Given the description of an element on the screen output the (x, y) to click on. 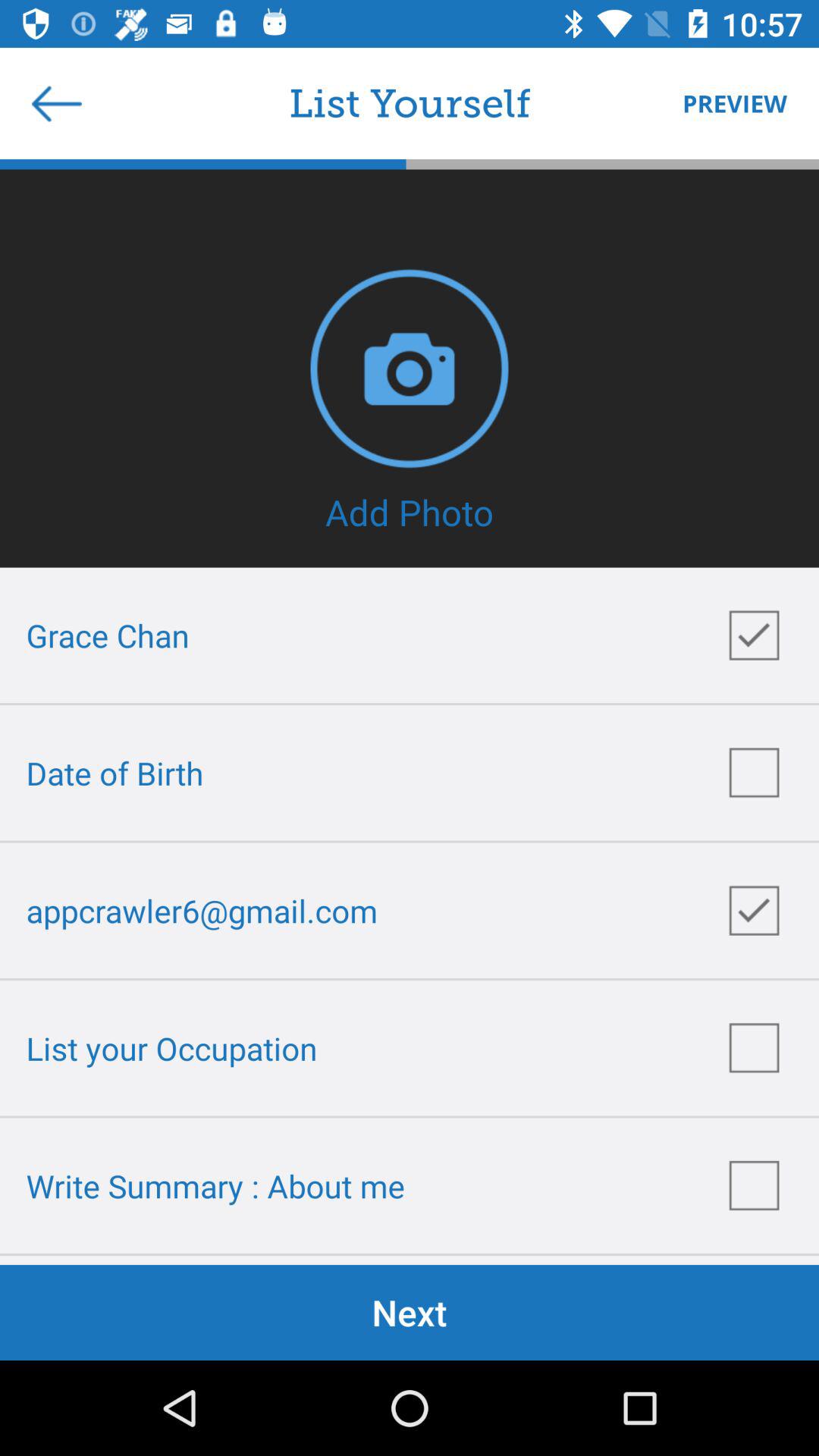
go back (56, 103)
